Given the description of an element on the screen output the (x, y) to click on. 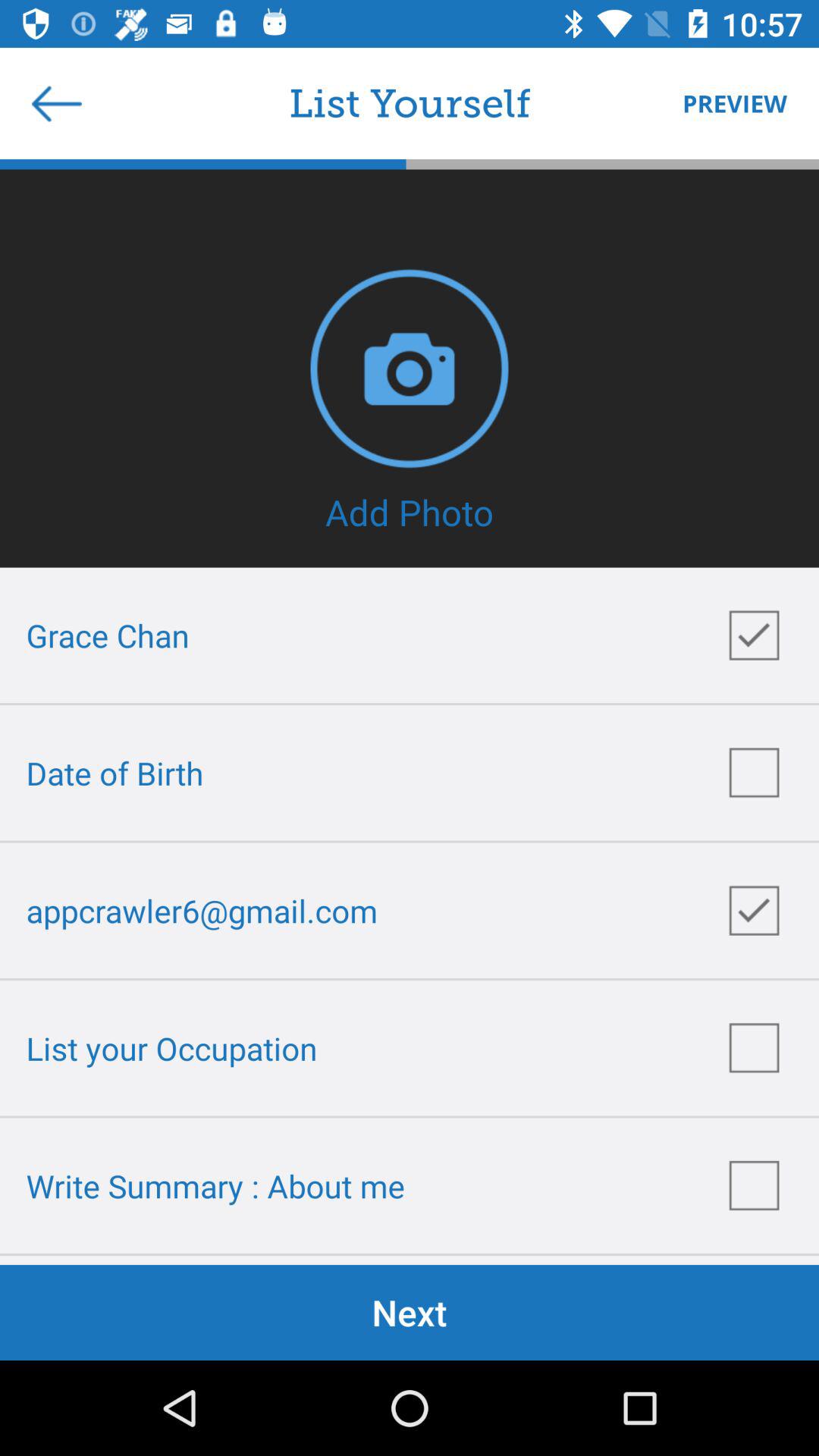
go back (56, 103)
